Given the description of an element on the screen output the (x, y) to click on. 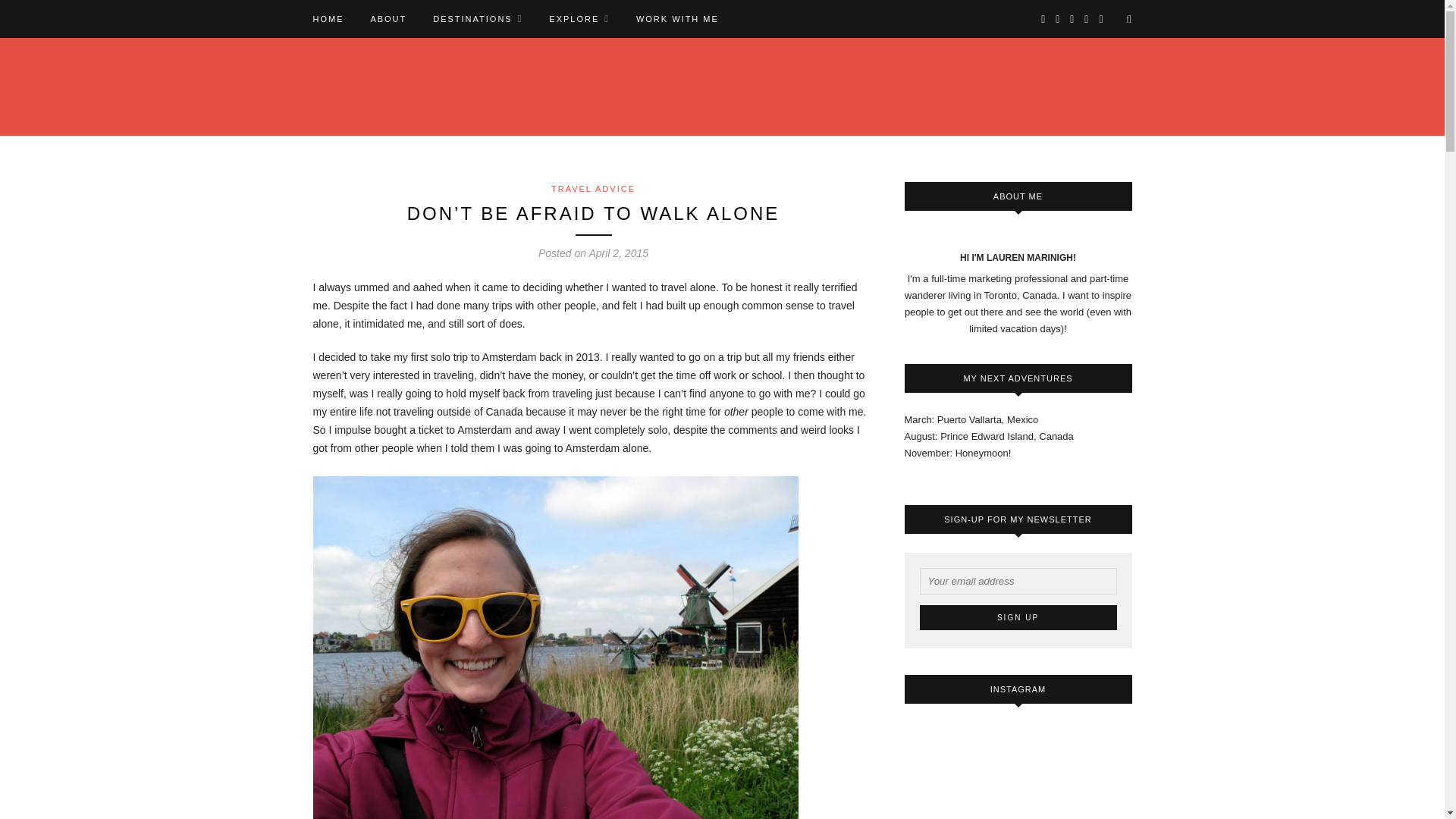
WORK WITH ME (677, 18)
ABOUT (387, 18)
Sign up (1017, 617)
DESTINATIONS (477, 18)
EXPLORE (579, 18)
TRAVEL ADVICE (592, 188)
